Given the description of an element on the screen output the (x, y) to click on. 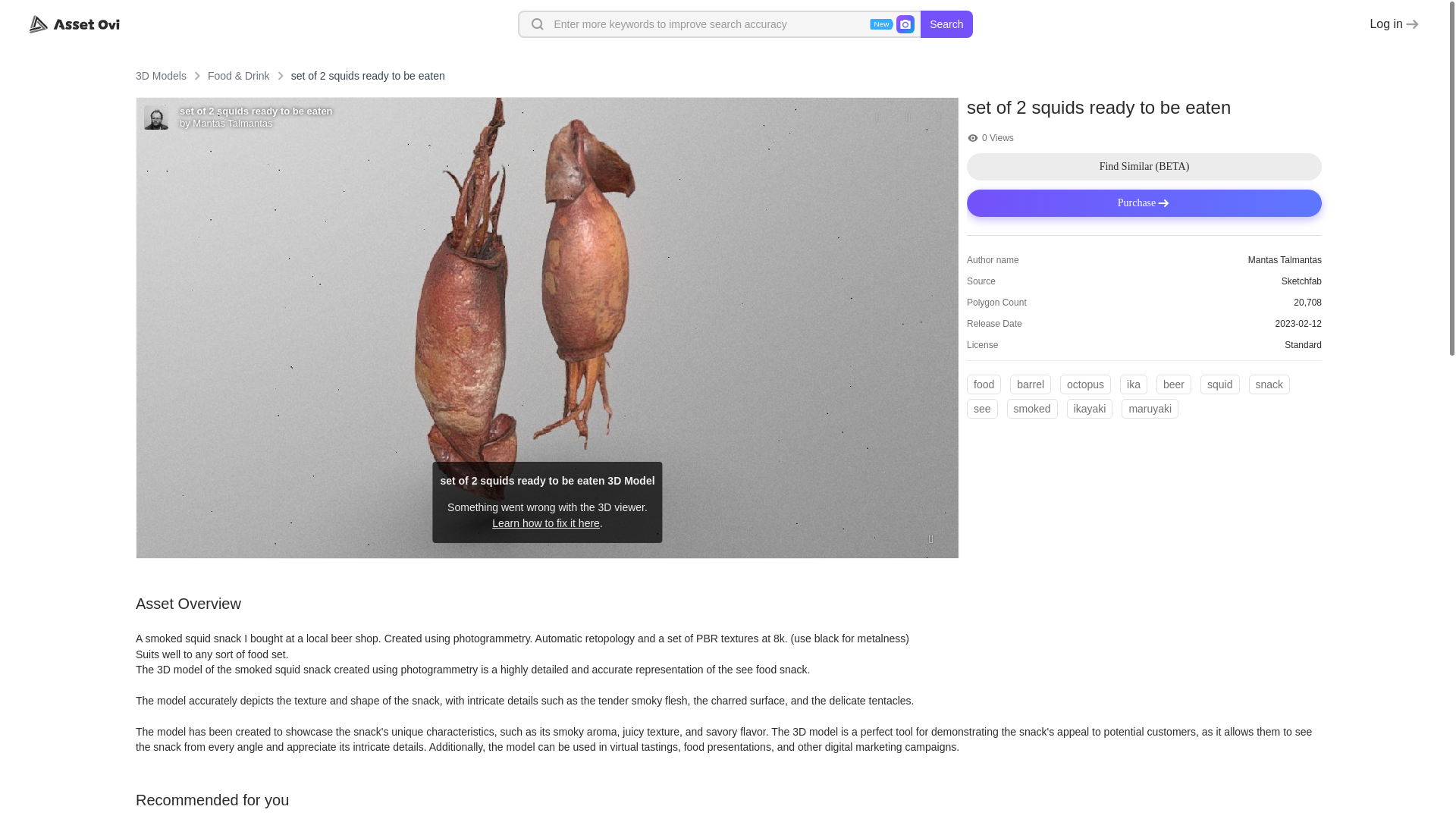
Purchase (1144, 203)
Standard (1303, 344)
Asset Ovi (74, 24)
3D Models (160, 75)
